Given the description of an element on the screen output the (x, y) to click on. 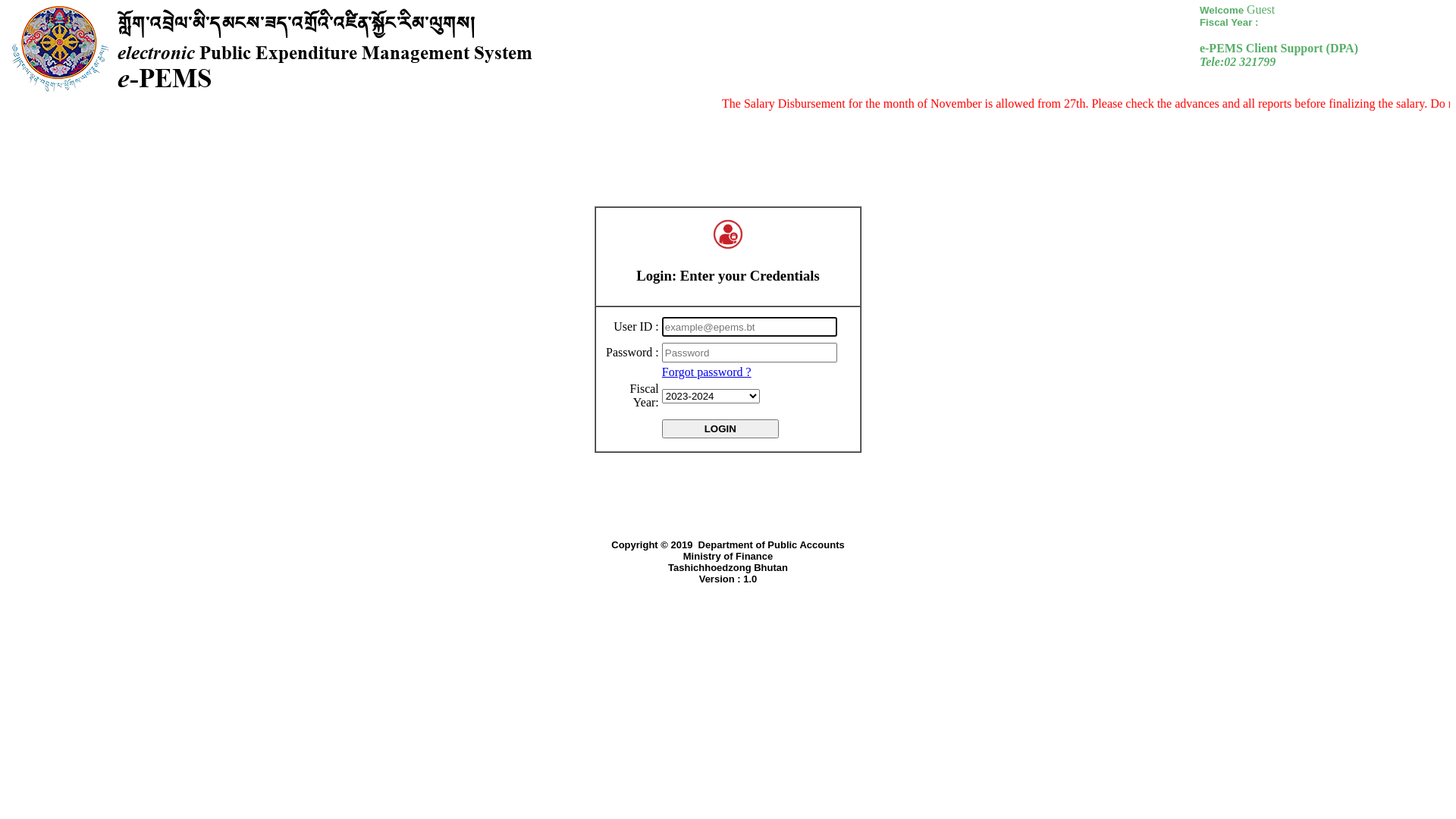
LOGIN Element type: text (720, 428)
Forgot password ? Element type: text (706, 371)
